Given the description of an element on the screen output the (x, y) to click on. 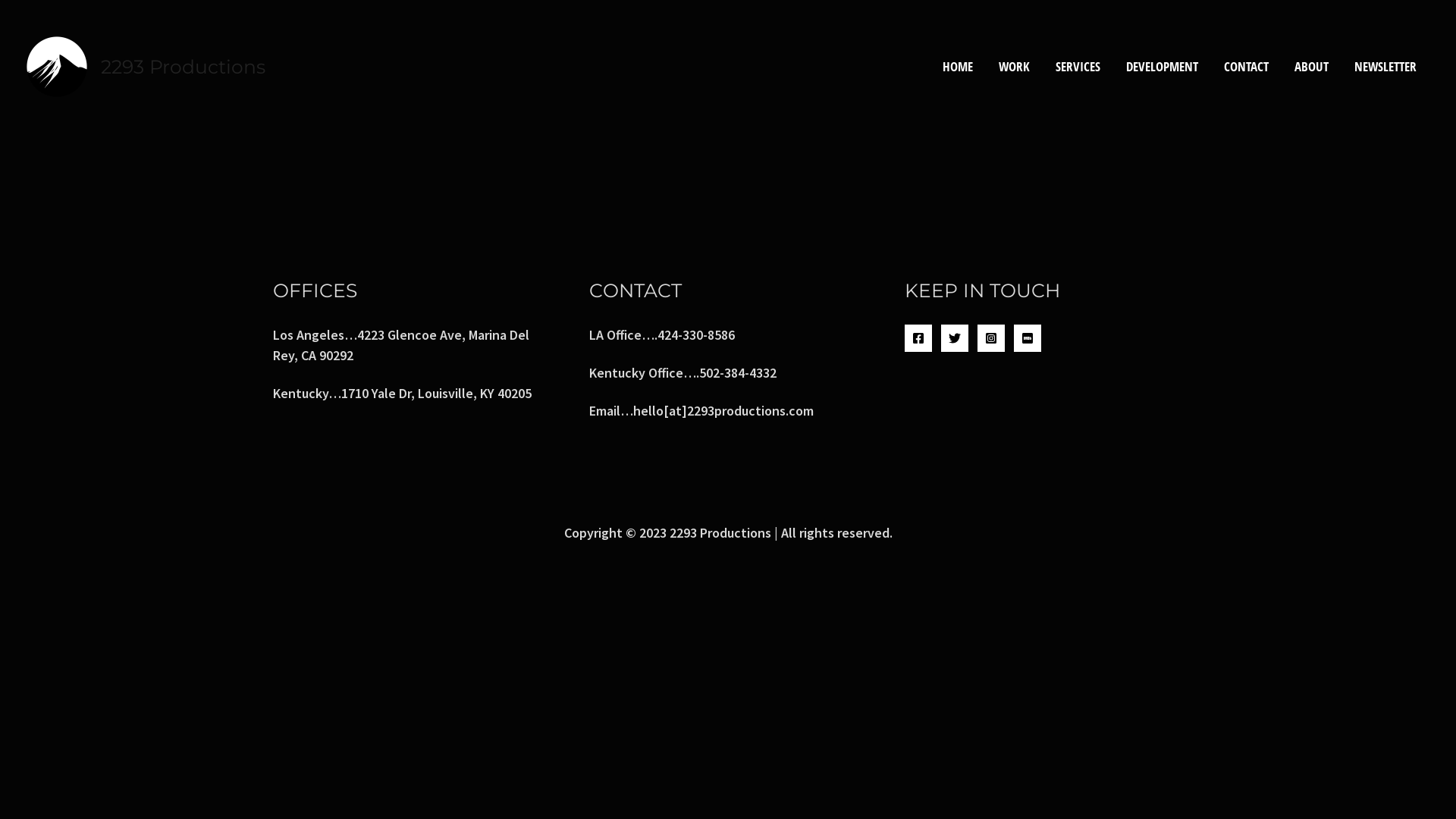
2293 Productions Element type: text (182, 65)
WORK Element type: text (1013, 66)
HOME Element type: text (957, 66)
SERVICES Element type: text (1077, 66)
NEWSLETTER Element type: text (1385, 66)
CONTACT Element type: text (1246, 66)
ABOUT Element type: text (1311, 66)
DEVELOPMENT Element type: text (1162, 66)
